Given the description of an element on the screen output the (x, y) to click on. 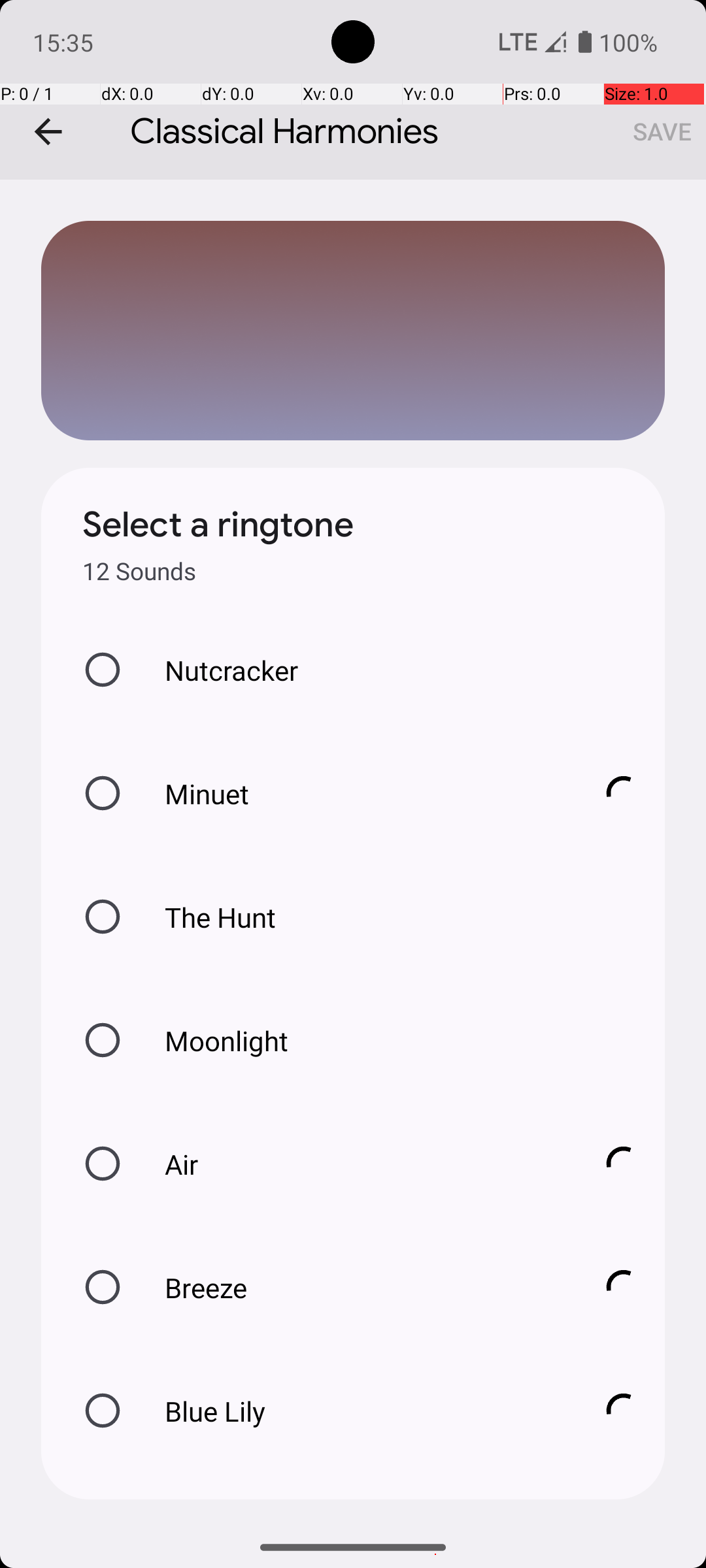
Nutcracker Element type: android.widget.TextView (217, 669)
Minuet Element type: android.widget.TextView (359, 793)
Download in progress Element type: android.widget.ImageView (623, 792)
The Hunt Element type: android.widget.TextView (206, 916)
Moonlight Element type: android.widget.TextView (212, 1040)
Air Element type: android.widget.TextView (359, 1163)
Breeze Element type: android.widget.TextView (359, 1287)
Blue Lily Element type: android.widget.TextView (359, 1410)
